Given the description of an element on the screen output the (x, y) to click on. 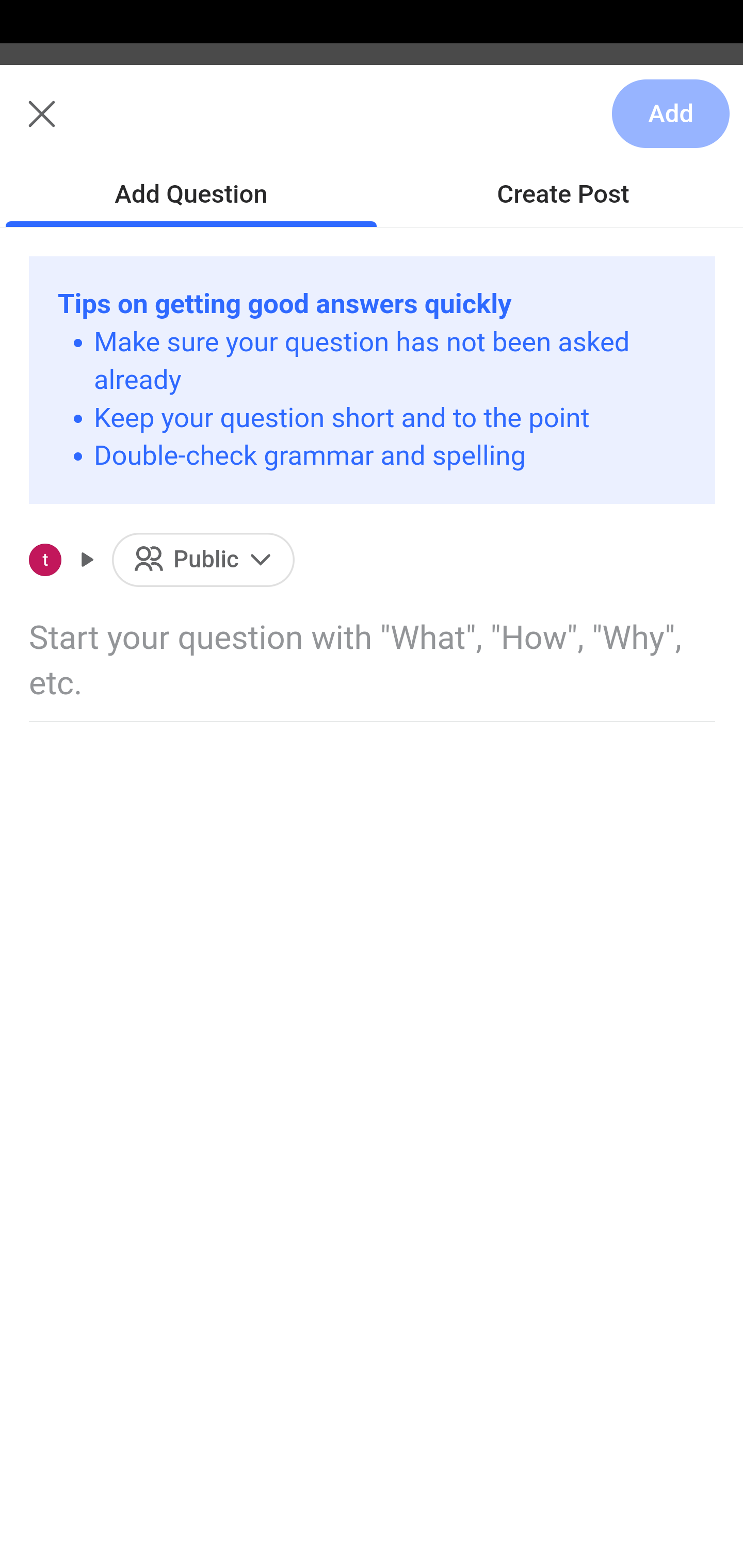
Me Home Search Add (371, 125)
Me (64, 125)
